Given the description of an element on the screen output the (x, y) to click on. 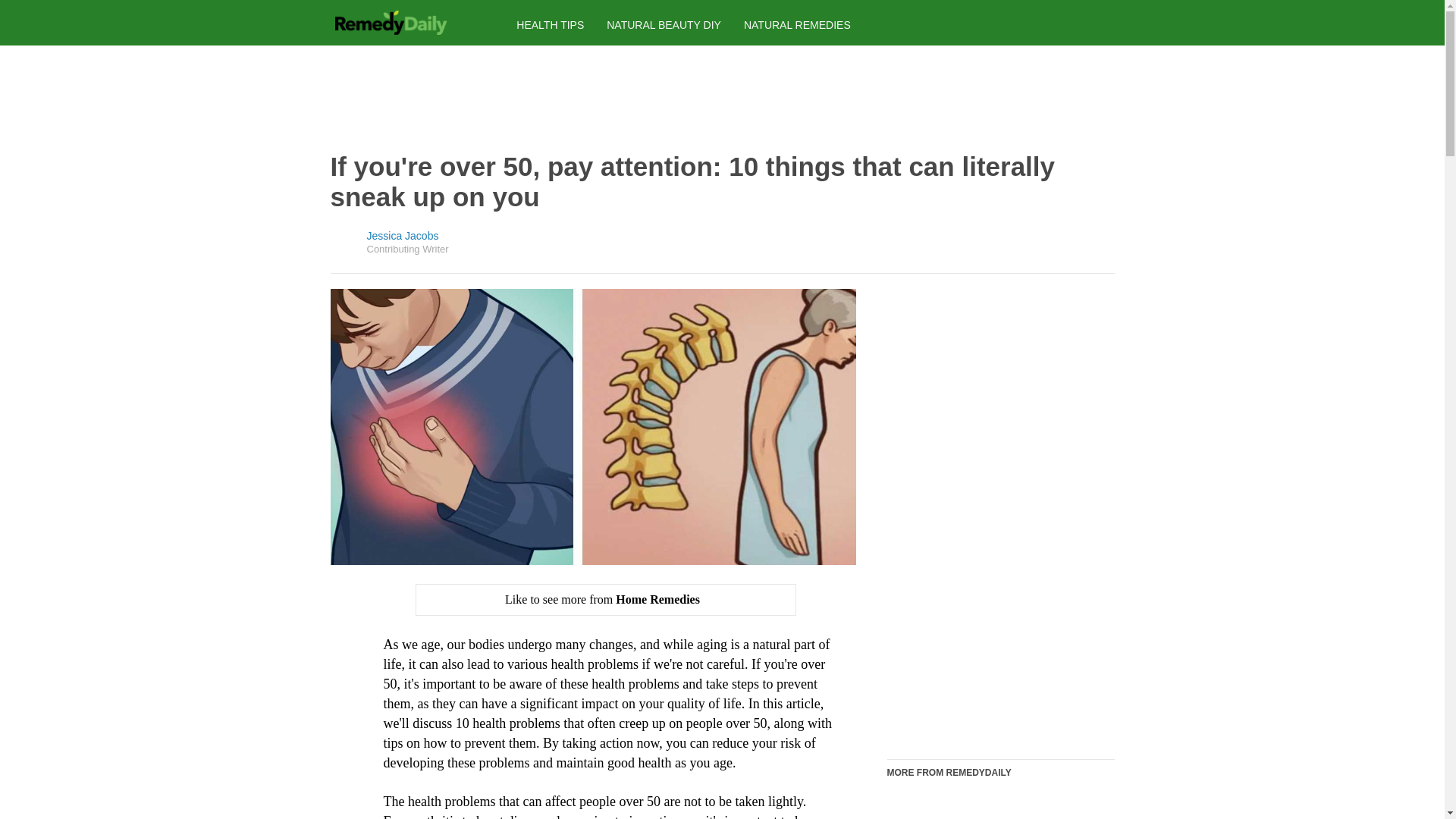
NATURAL REMEDIES (797, 24)
NATURAL BEAUTY DIY (663, 24)
HEALTH TIPS (549, 24)
10 ways to rid spiders for good without any chemicals (1000, 806)
